Given the description of an element on the screen output the (x, y) to click on. 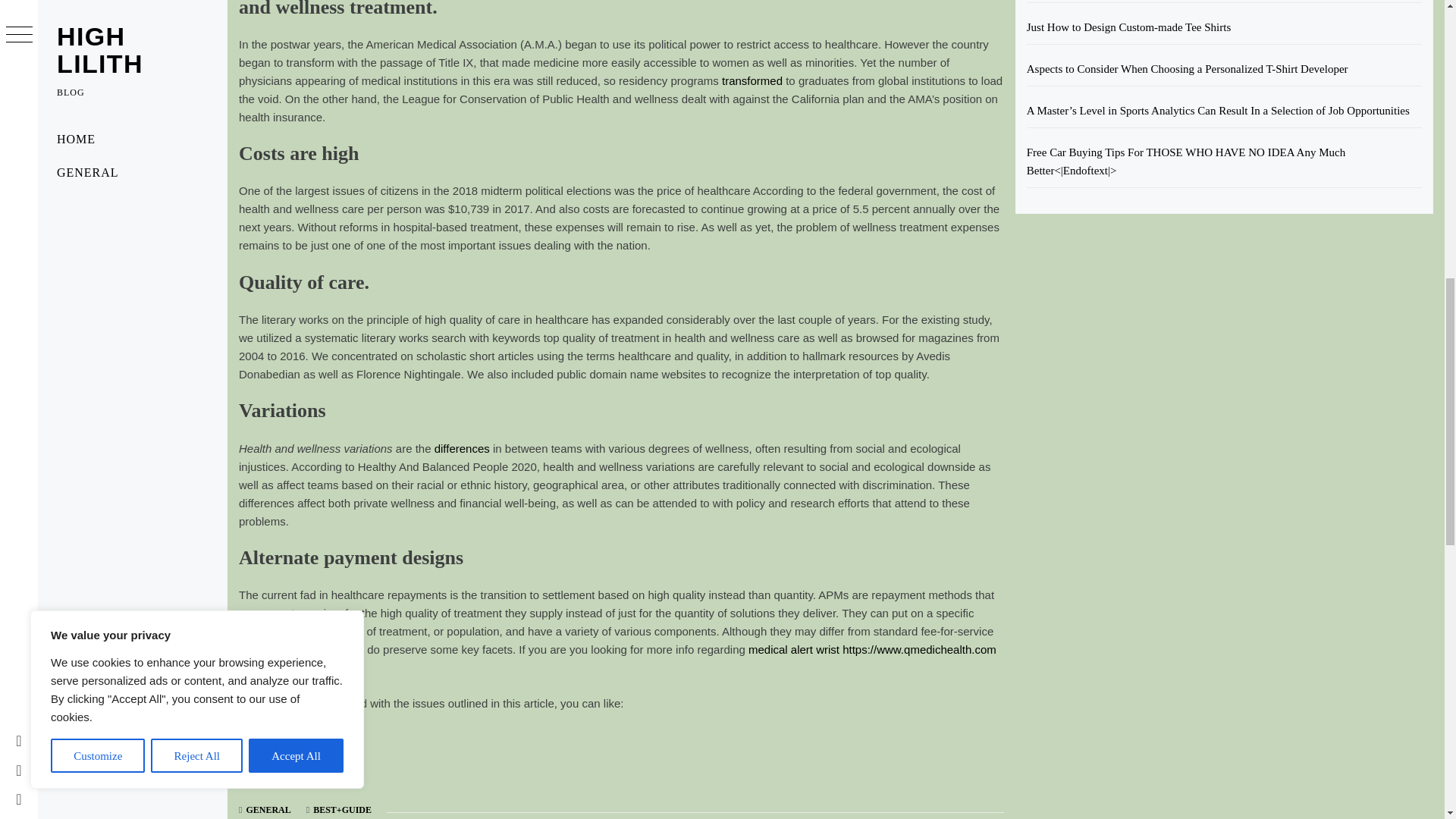
transformed (752, 80)
GENERAL (267, 809)
differences (461, 448)
check out this site (283, 773)
Find more information (293, 738)
